Given the description of an element on the screen output the (x, y) to click on. 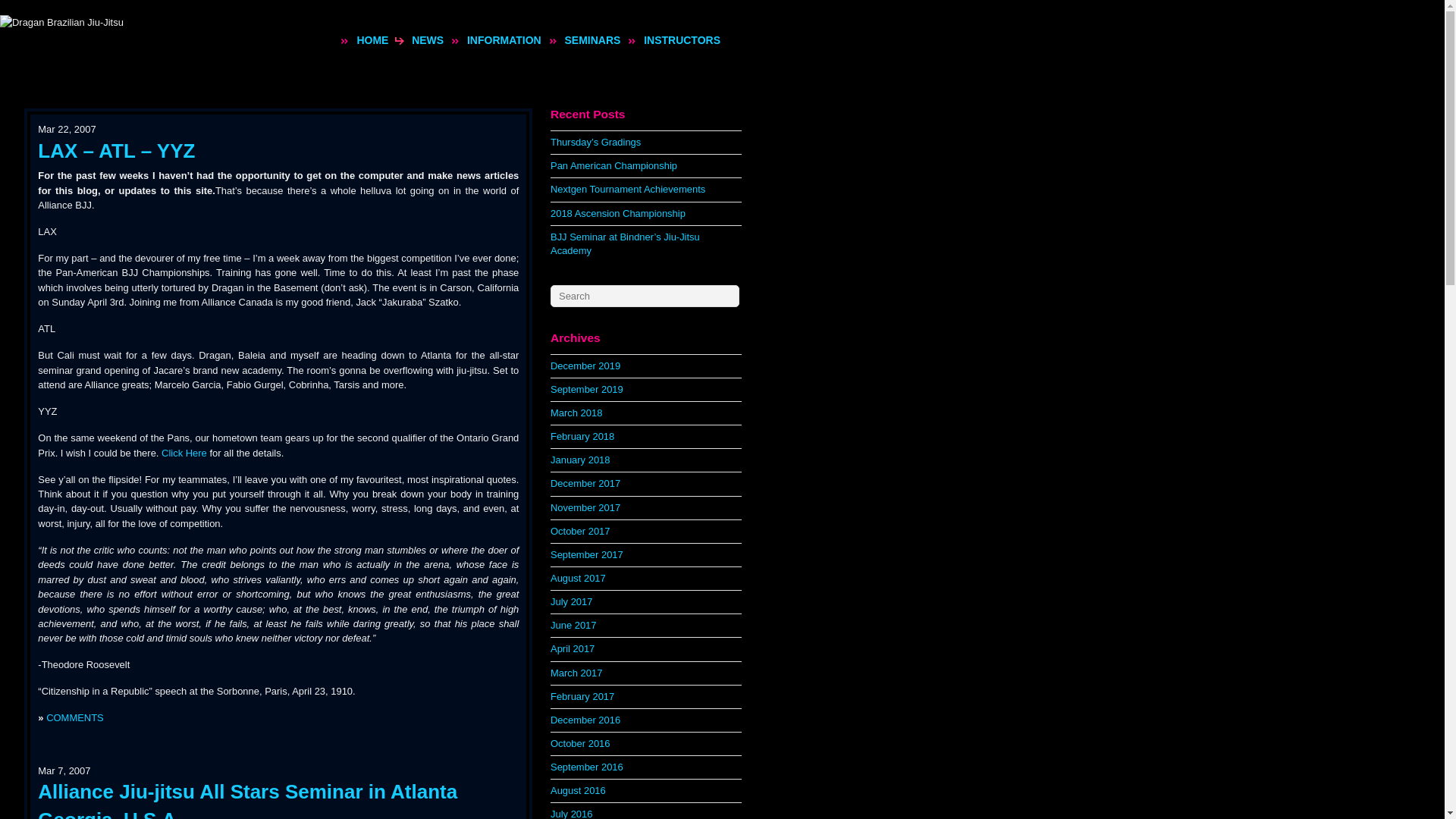
September 2016 (586, 767)
September 2019 (586, 389)
April 2017 (572, 648)
Click Here (183, 452)
December 2017 (585, 482)
Pan American Championship (613, 165)
October 2017 (580, 531)
Menu Dingbat (454, 40)
January 2018 (580, 460)
2018 Ascension Championship (617, 213)
August 2016 (577, 790)
December 2016 (585, 719)
HOME (372, 39)
July 2017 (571, 601)
September 2017 (586, 554)
